Given the description of an element on the screen output the (x, y) to click on. 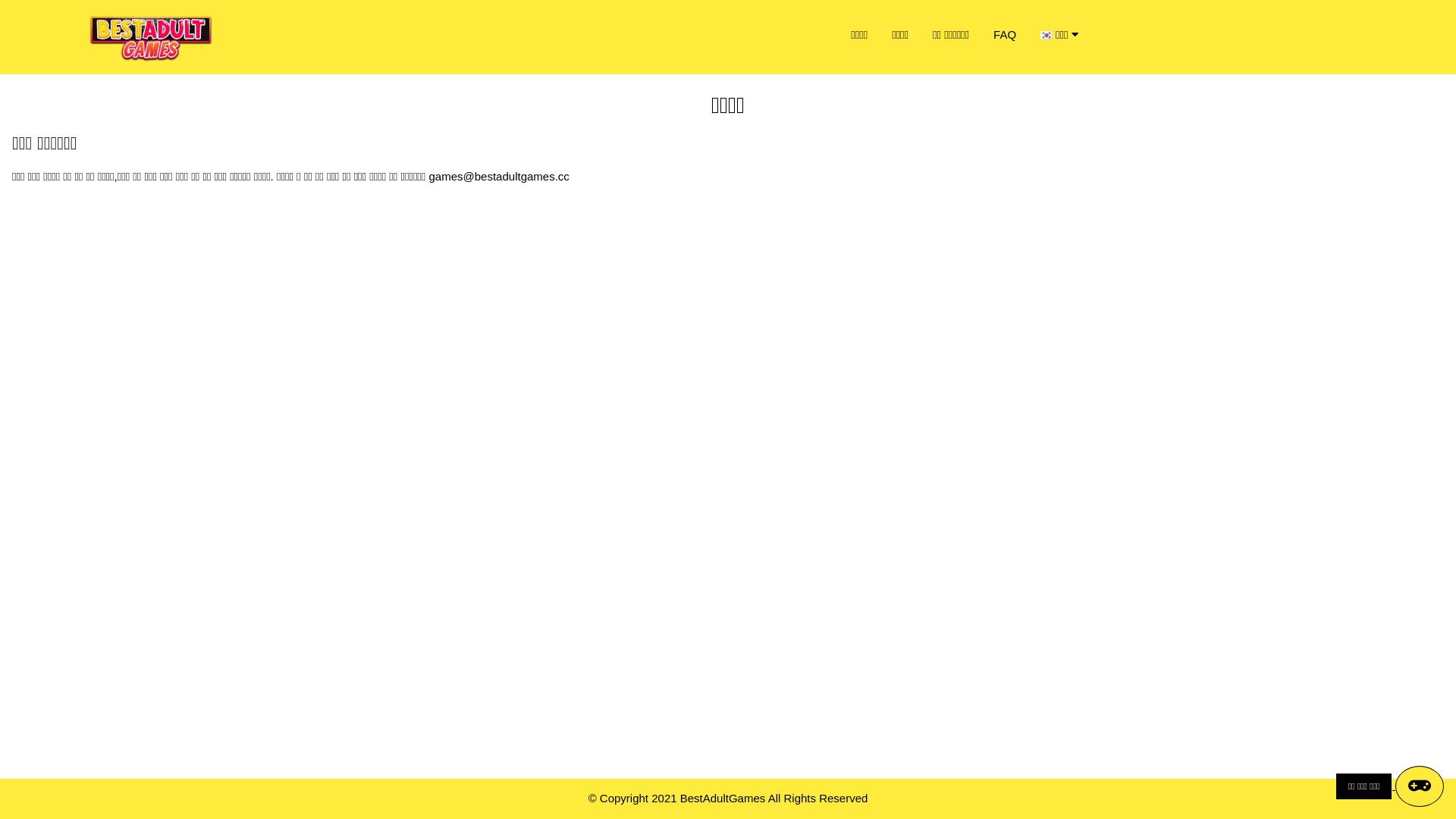
FAQ Element type: text (1004, 35)
